Given the description of an element on the screen output the (x, y) to click on. 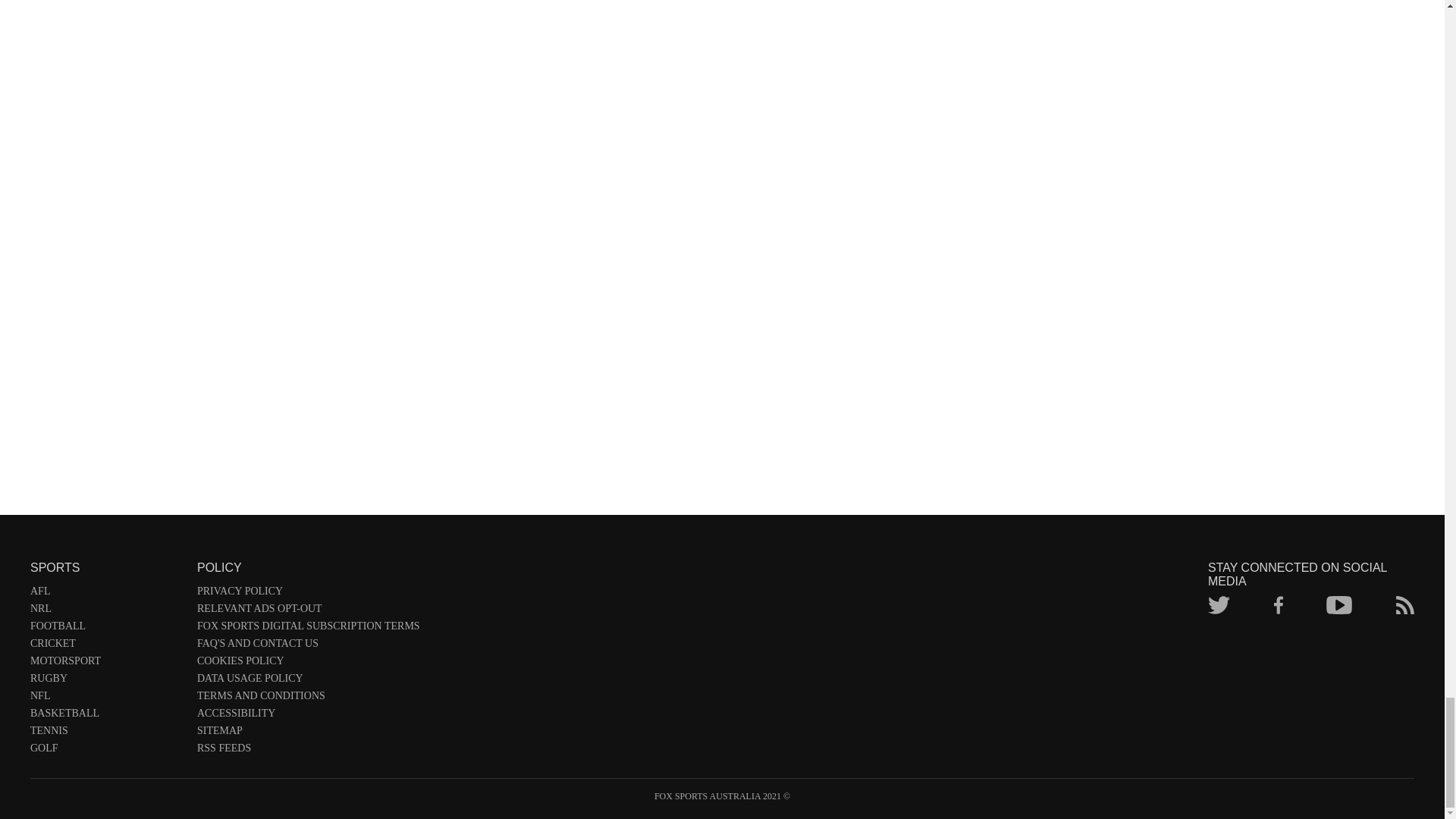
CRICKET (106, 646)
FOOTBALL (106, 628)
AFL (106, 593)
NRL (106, 610)
